Given the description of an element on the screen output the (x, y) to click on. 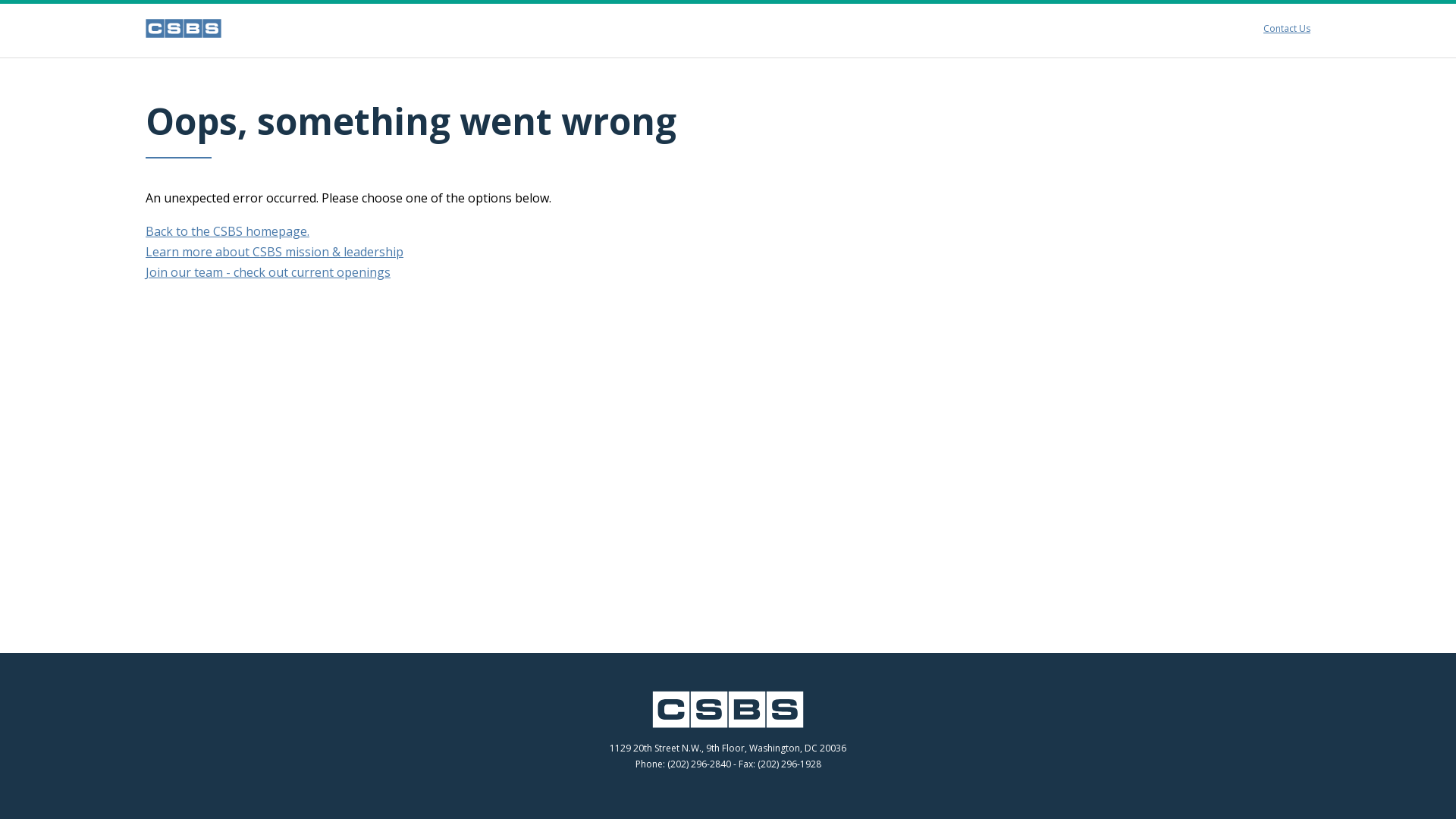
Back to the CSBS homepage. (226, 230)
Join our team - check out current openings (267, 271)
Contact Us (1286, 28)
